Given the description of an element on the screen output the (x, y) to click on. 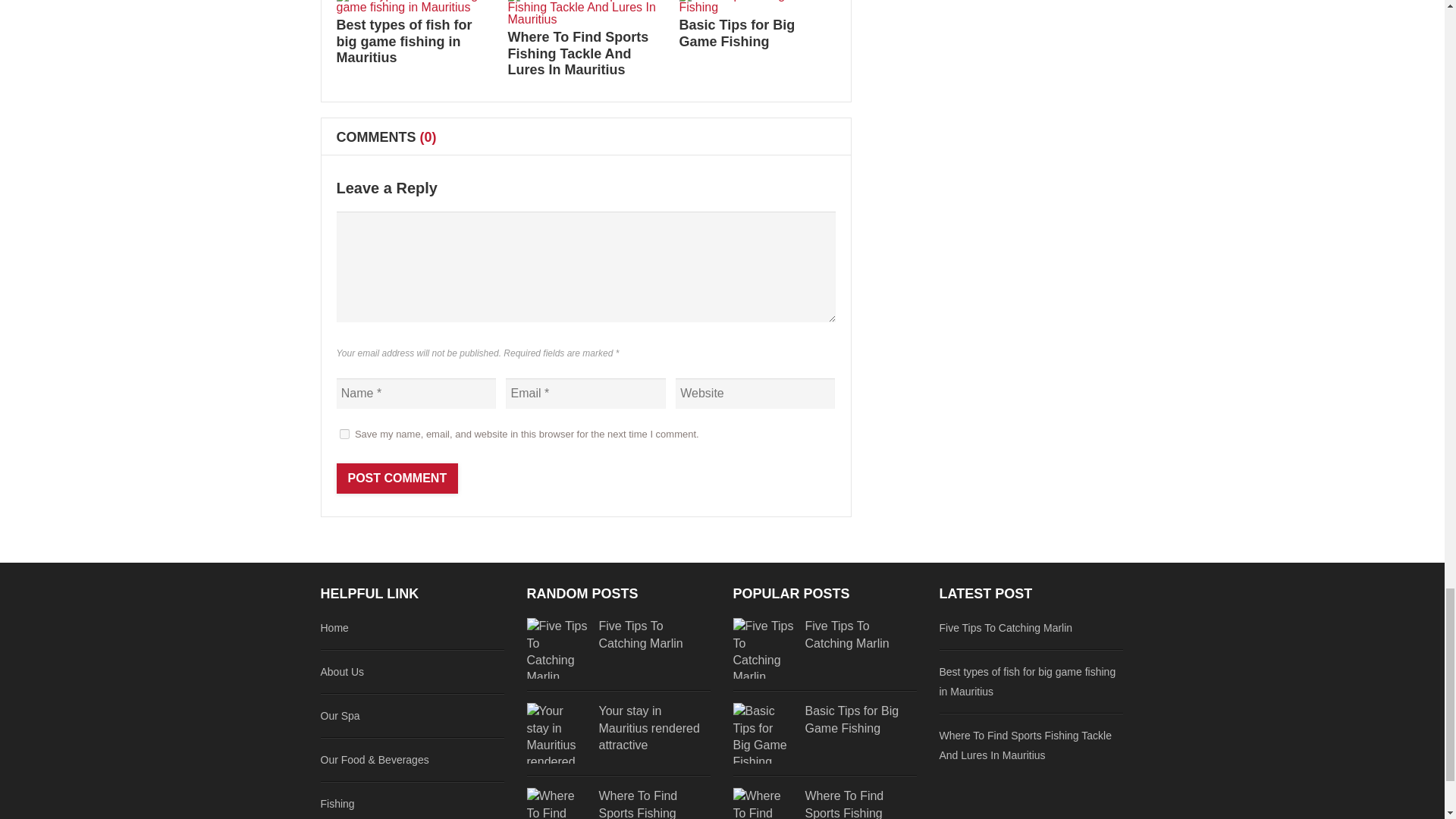
Basic Tips for Big Game Fishing (736, 33)
Post Comment (397, 478)
Post Comment (397, 478)
Best types of fish for big game fishing in Mauritius (403, 41)
Where To Find Sports Fishing Tackle And Lures In Mauritius (578, 52)
yes (344, 433)
